Given the description of an element on the screen output the (x, y) to click on. 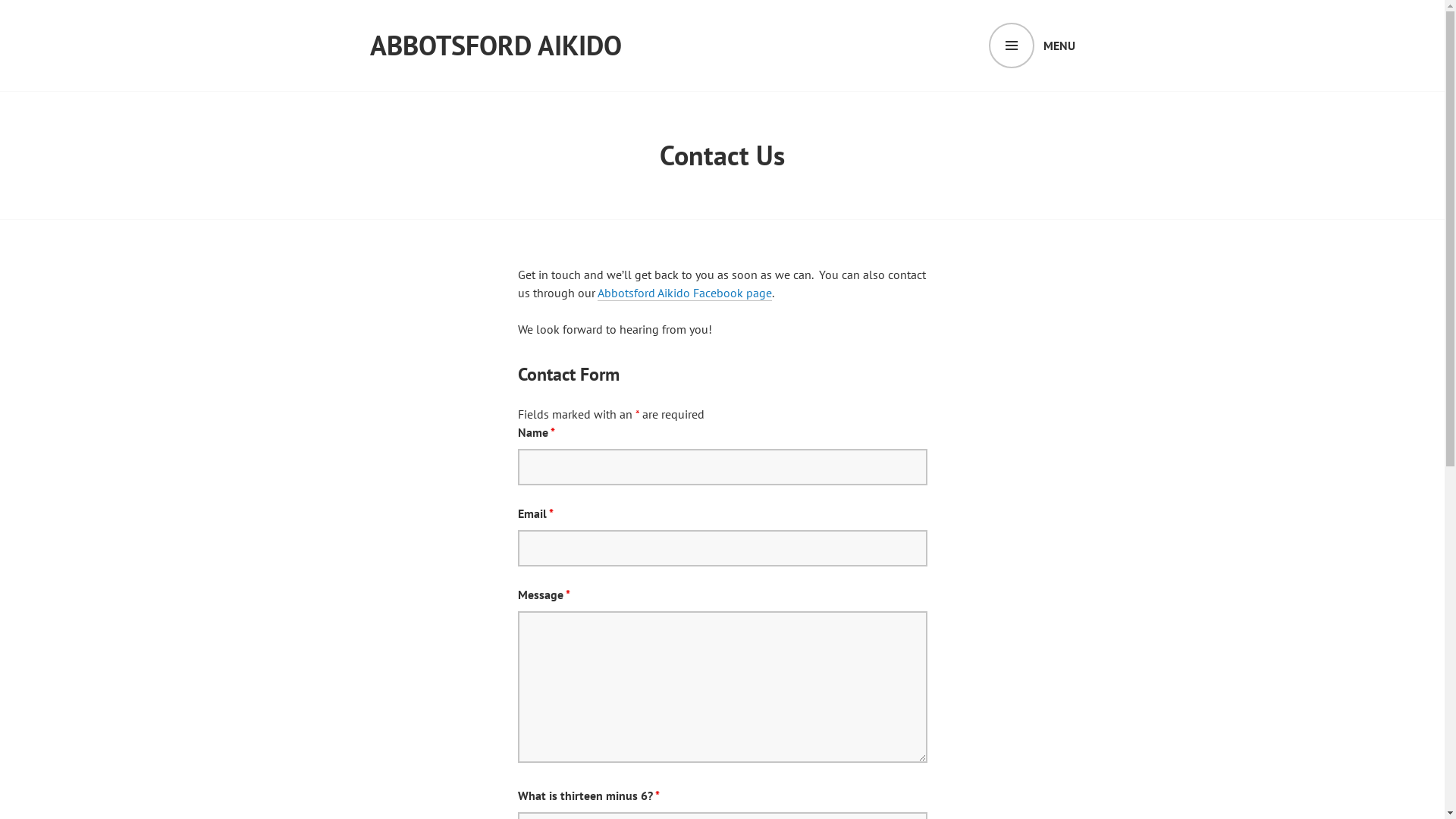
MENU Element type: text (1031, 45)
Abbotsford Aikido Facebook page Element type: text (684, 293)
ABBOTSFORD AIKIDO Element type: text (495, 45)
Skip to content Element type: text (0, 0)
